Given the description of an element on the screen output the (x, y) to click on. 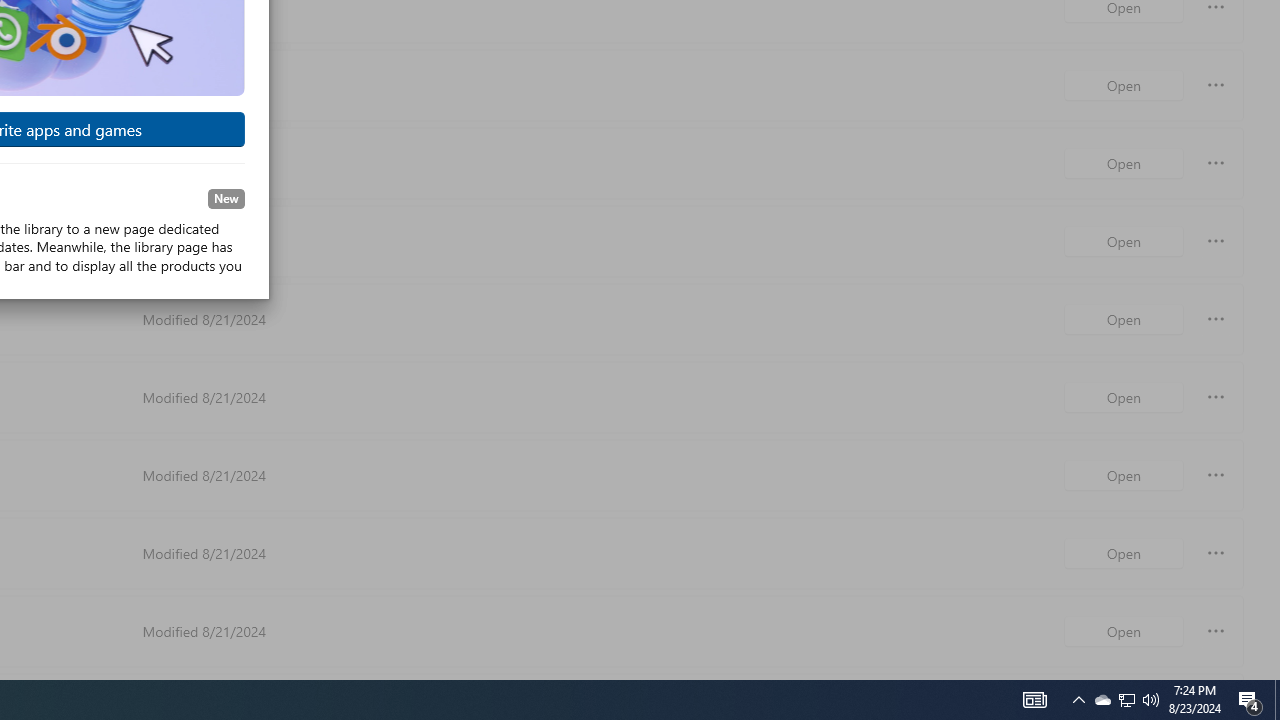
Open (1123, 630)
More options (1215, 630)
